Given the description of an element on the screen output the (x, y) to click on. 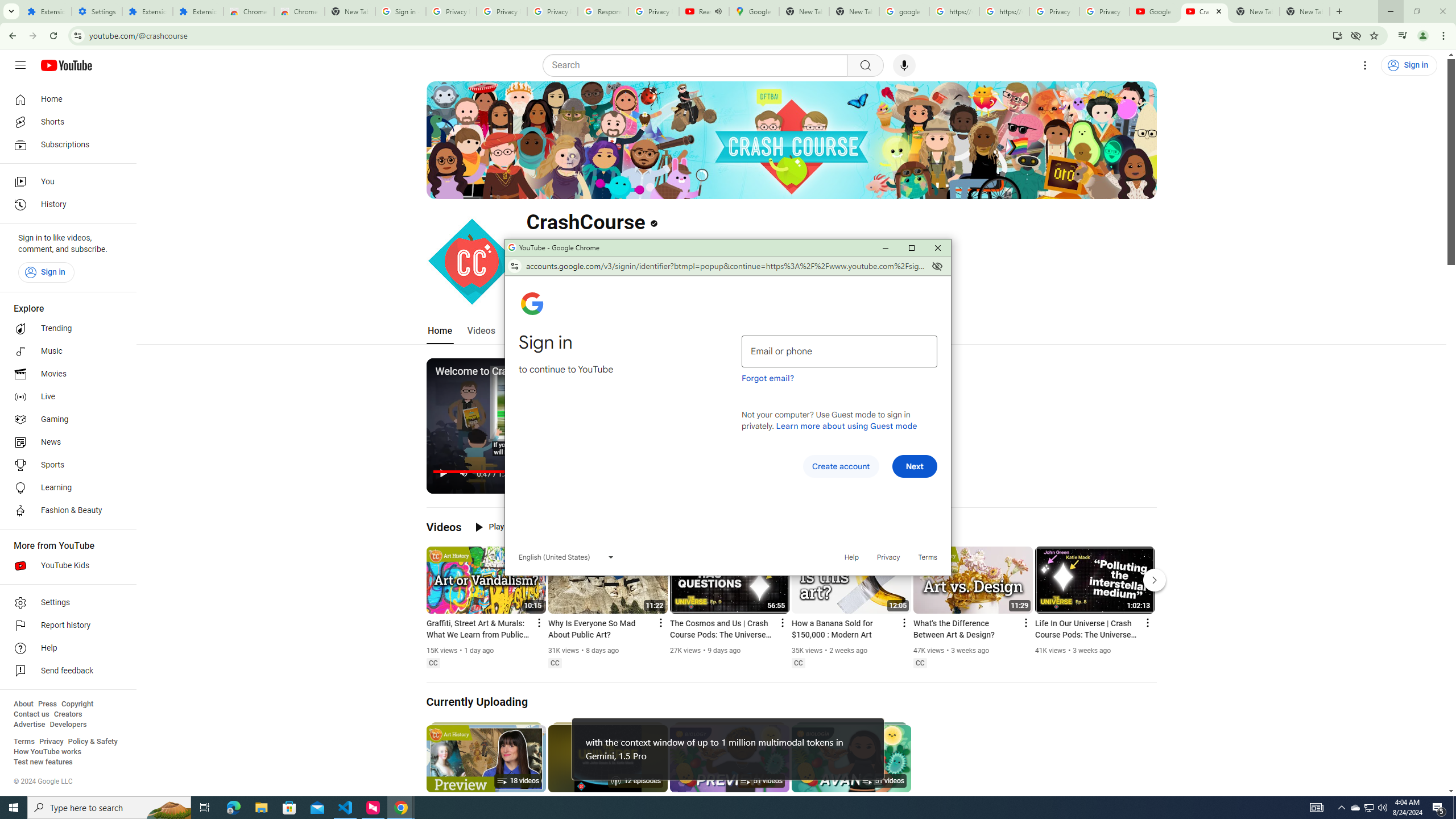
Creators (67, 714)
Microsoft Edge (233, 807)
Forgot email? (767, 378)
Music (64, 350)
Email or phone (839, 350)
Running applications (717, 807)
Report history (64, 625)
